Given the description of an element on the screen output the (x, y) to click on. 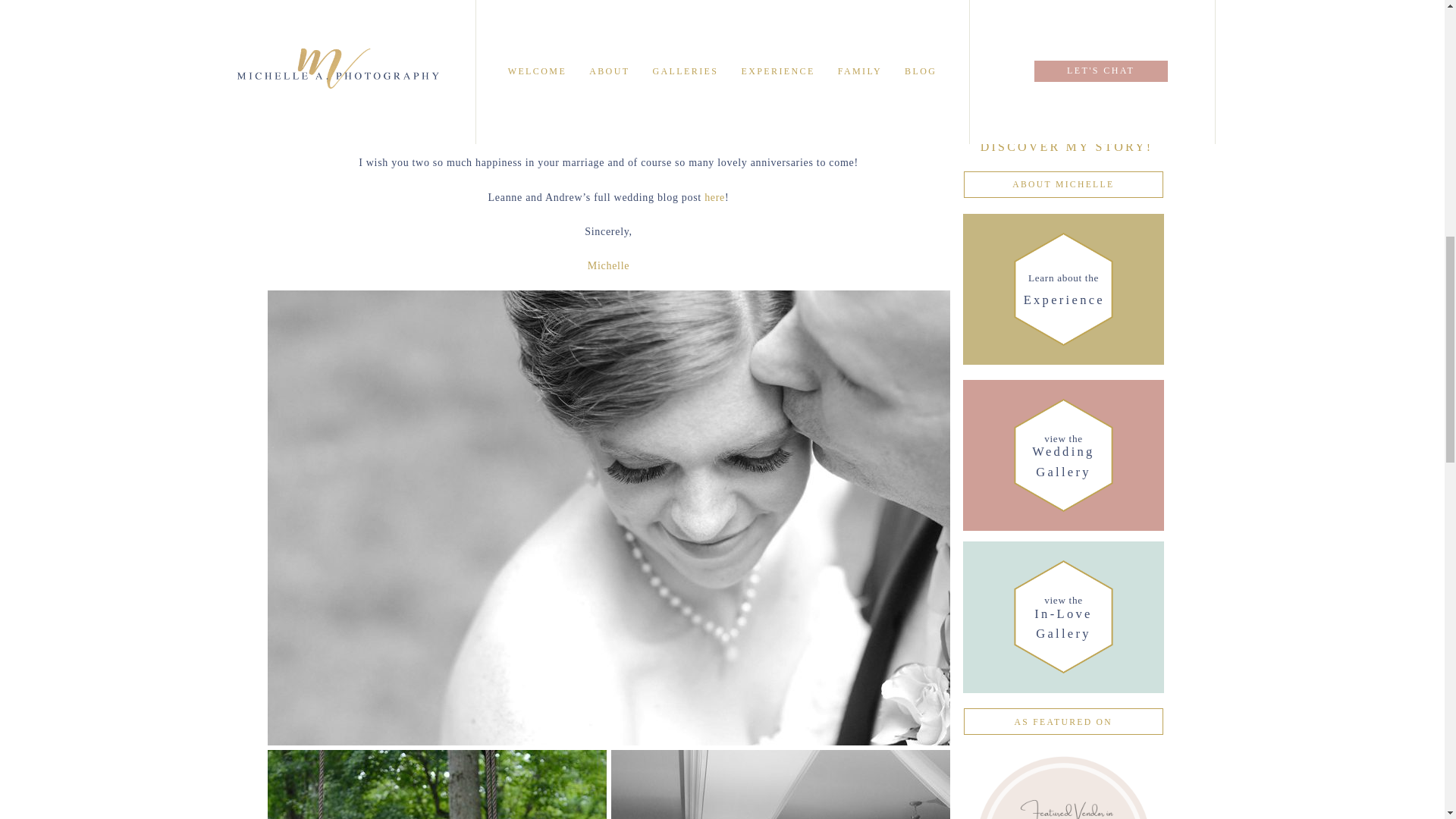
here (714, 197)
ABOUT MICHELLE (1062, 184)
Michelle (1062, 616)
